Given the description of an element on the screen output the (x, y) to click on. 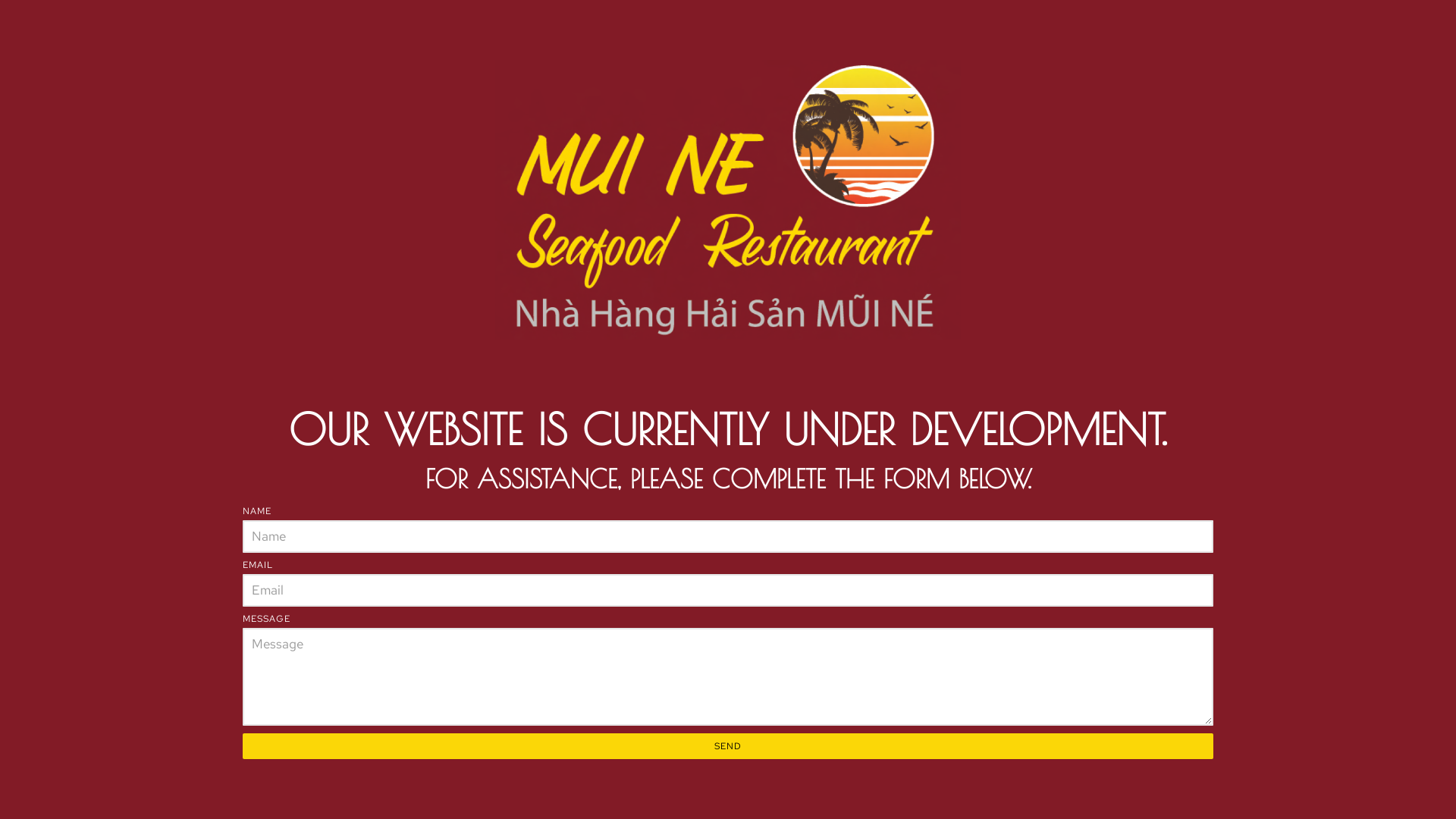
SEND Element type: text (727, 746)
